Given the description of an element on the screen output the (x, y) to click on. 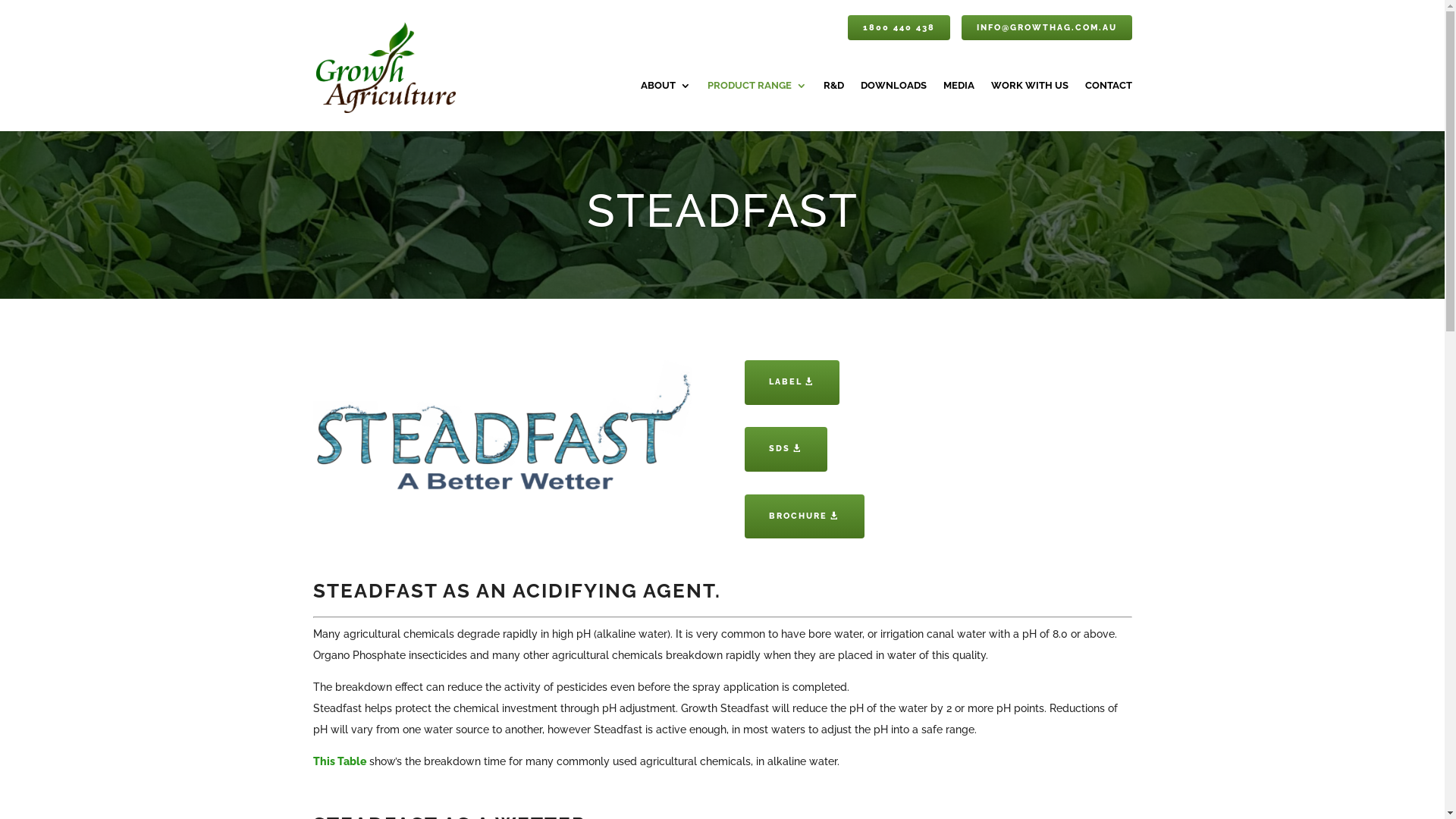
BROCHURE Element type: text (804, 516)
PRODUCT RANGE Element type: text (756, 105)
Steadfast-logo-600x208 Element type: hover (505, 427)
CONTACT Element type: text (1107, 105)
This Table Element type: text (338, 761)
LABEL Element type: text (791, 382)
DOWNLOADS Element type: text (892, 105)
WORK WITH US Element type: text (1028, 105)
1800 440 438 Element type: text (898, 27)
R&D Element type: text (833, 105)
MEDIA Element type: text (958, 105)
INFO@GROWTHAG.COM.AU Element type: text (1046, 27)
SDS Element type: text (785, 448)
ABOUT Element type: text (665, 105)
